Given the description of an element on the screen output the (x, y) to click on. 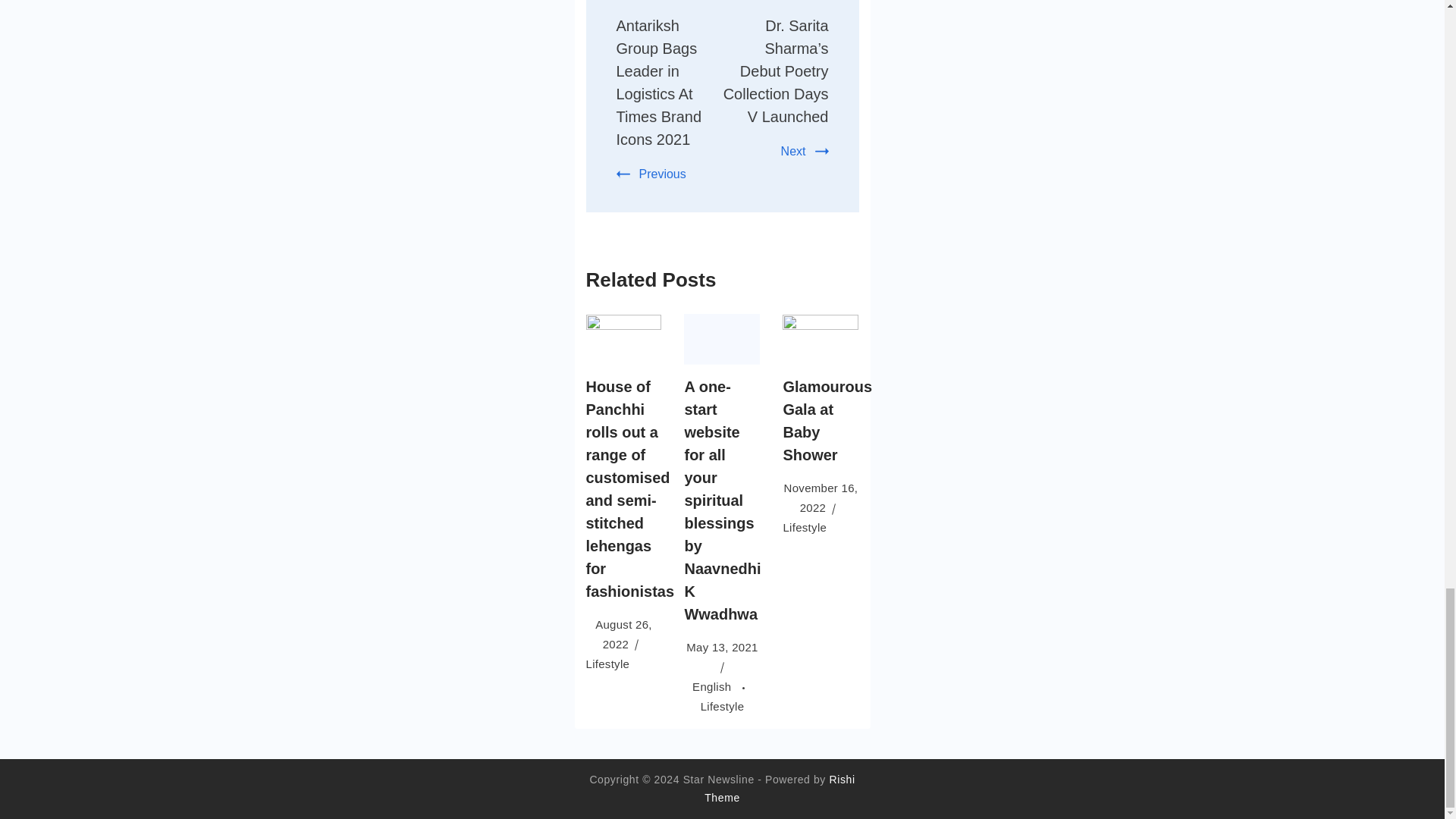
Previous (650, 173)
Lifestyle (606, 663)
Next (804, 151)
Lifestyle (722, 706)
English (722, 686)
